Given the description of an element on the screen output the (x, y) to click on. 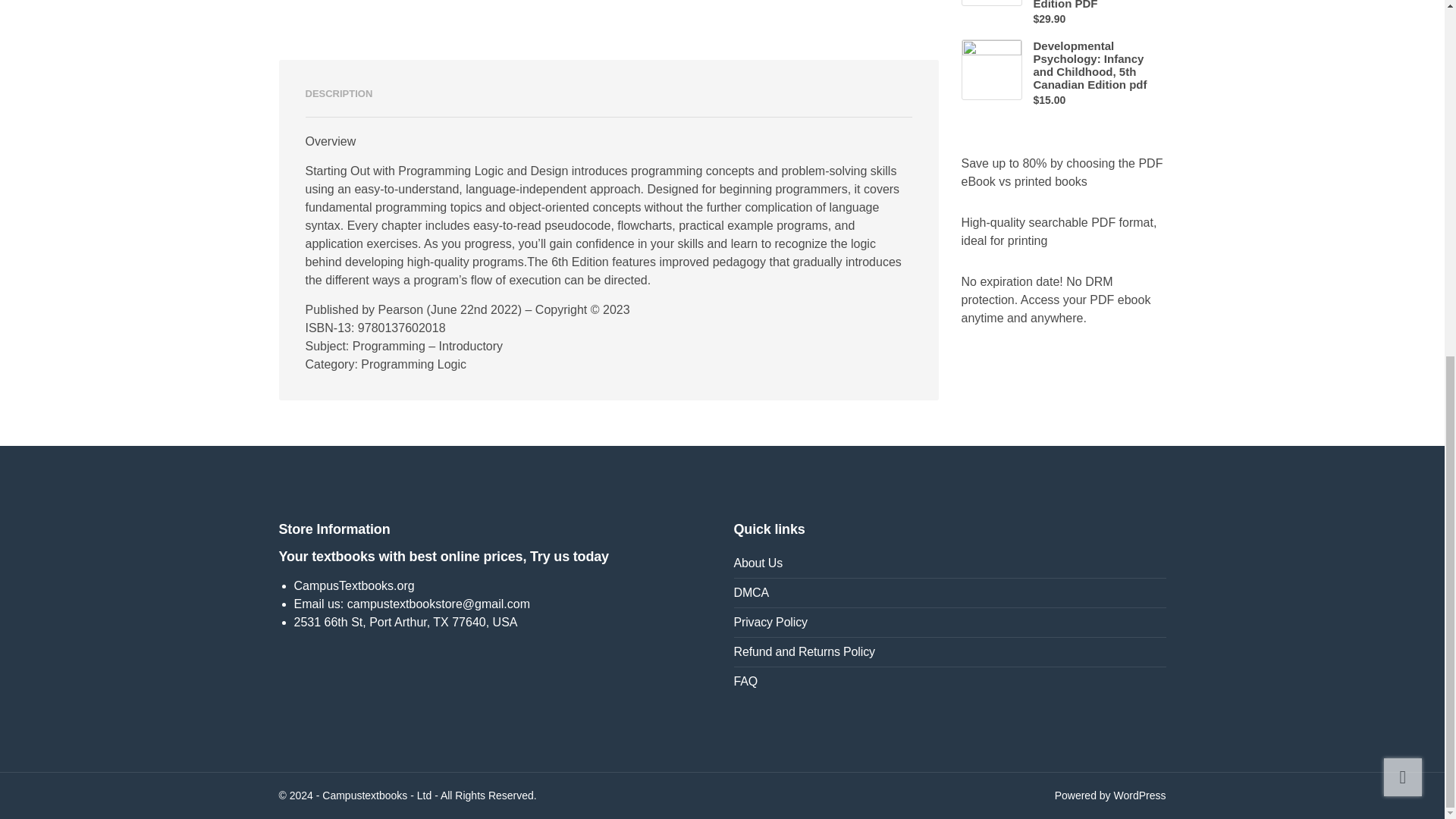
About Us (949, 563)
Privacy Policy (949, 623)
DMCA (949, 593)
Scroll to the top (1403, 149)
DESCRIPTION (338, 93)
Refund and Returns Policy (949, 652)
FAQ (949, 681)
